Given the description of an element on the screen output the (x, y) to click on. 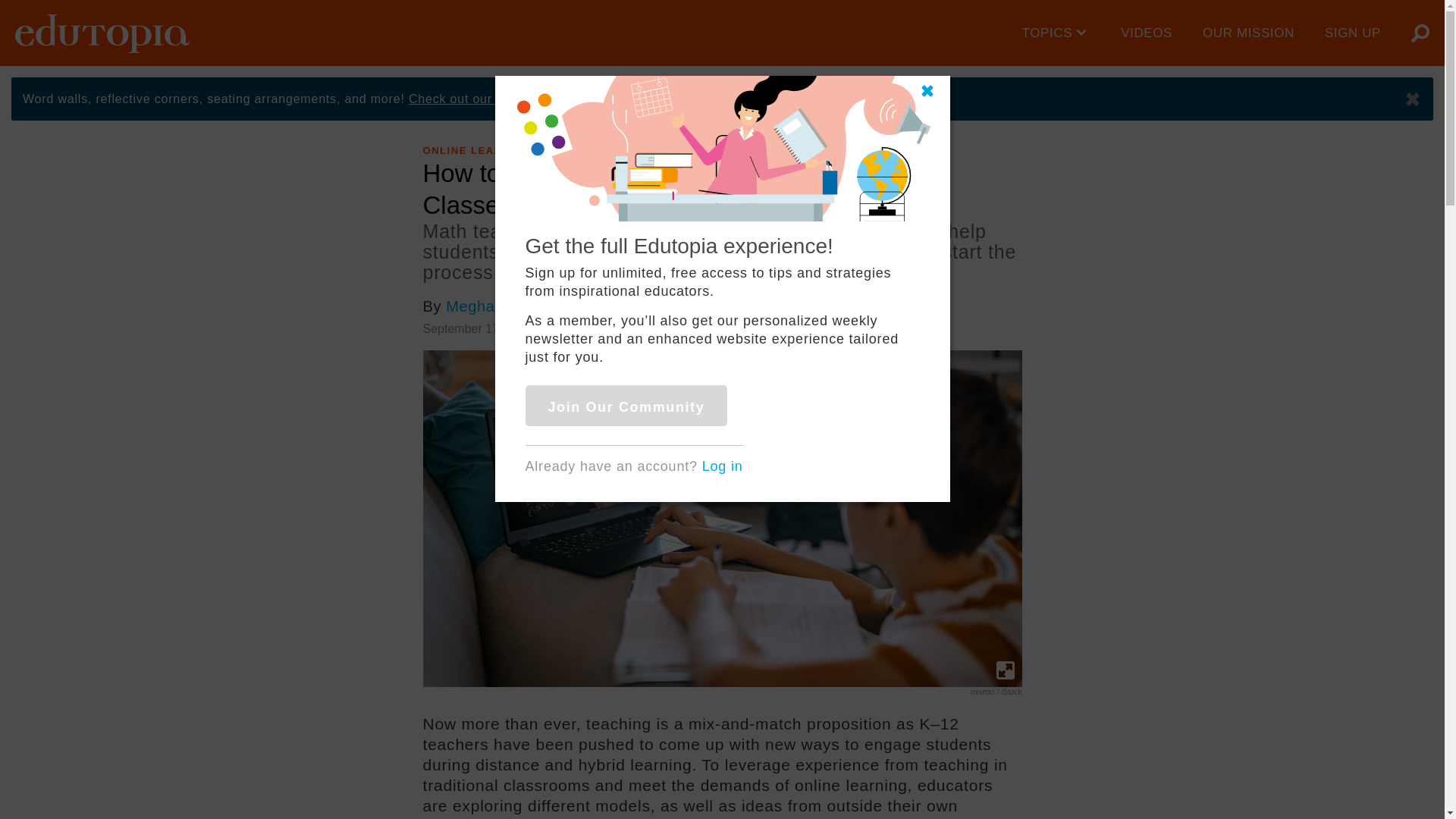
OUR MISSION (1248, 33)
Meghan Laslocky (507, 306)
Edutopia (101, 33)
SIGN UP (1352, 33)
Check out our classroom design collection (535, 98)
Edutopia (101, 33)
VIDEOS (1146, 33)
TOPICS (1056, 33)
